Given the description of an element on the screen output the (x, y) to click on. 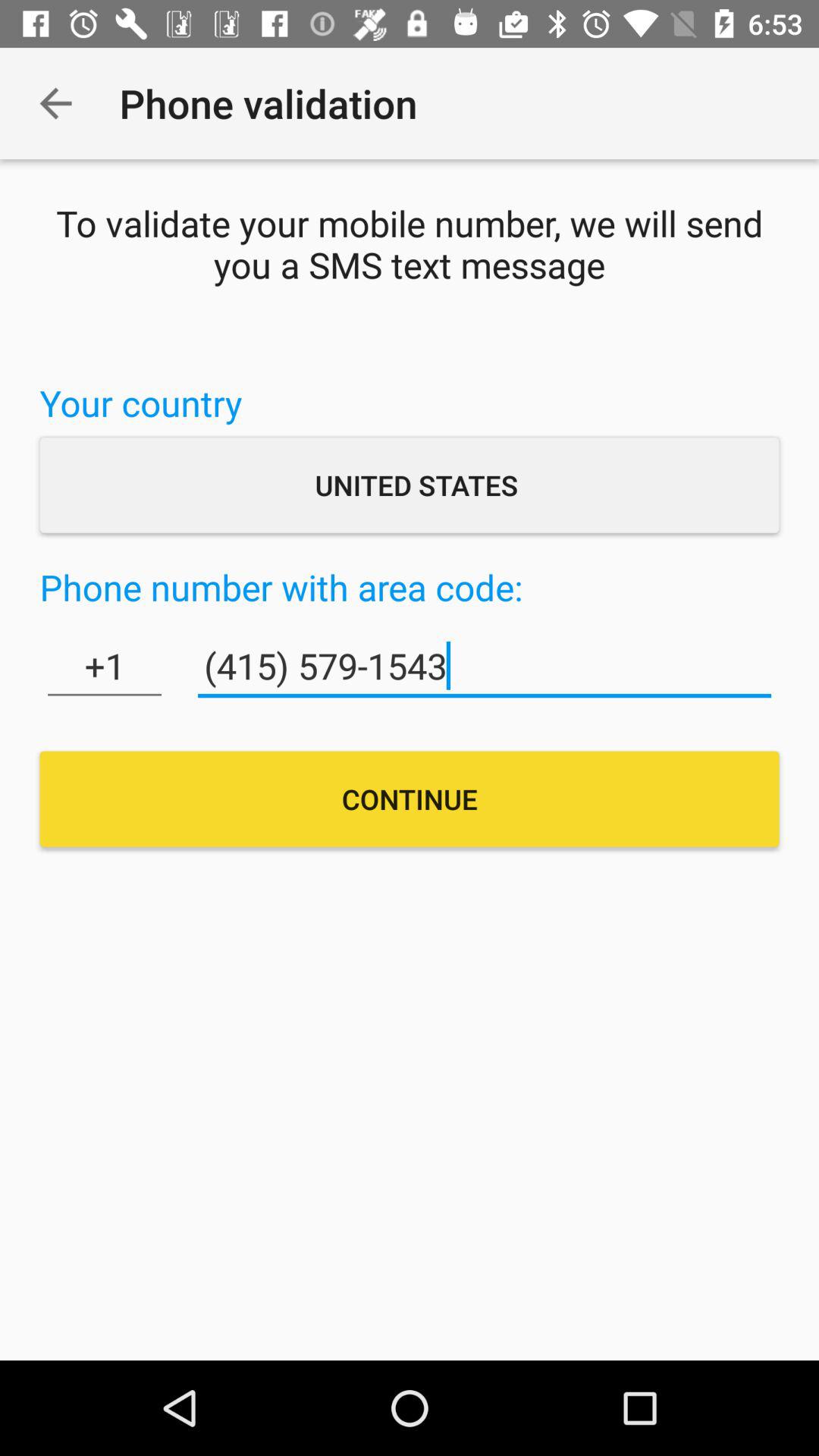
select the icon above the phone number with item (409, 484)
